Given the description of an element on the screen output the (x, y) to click on. 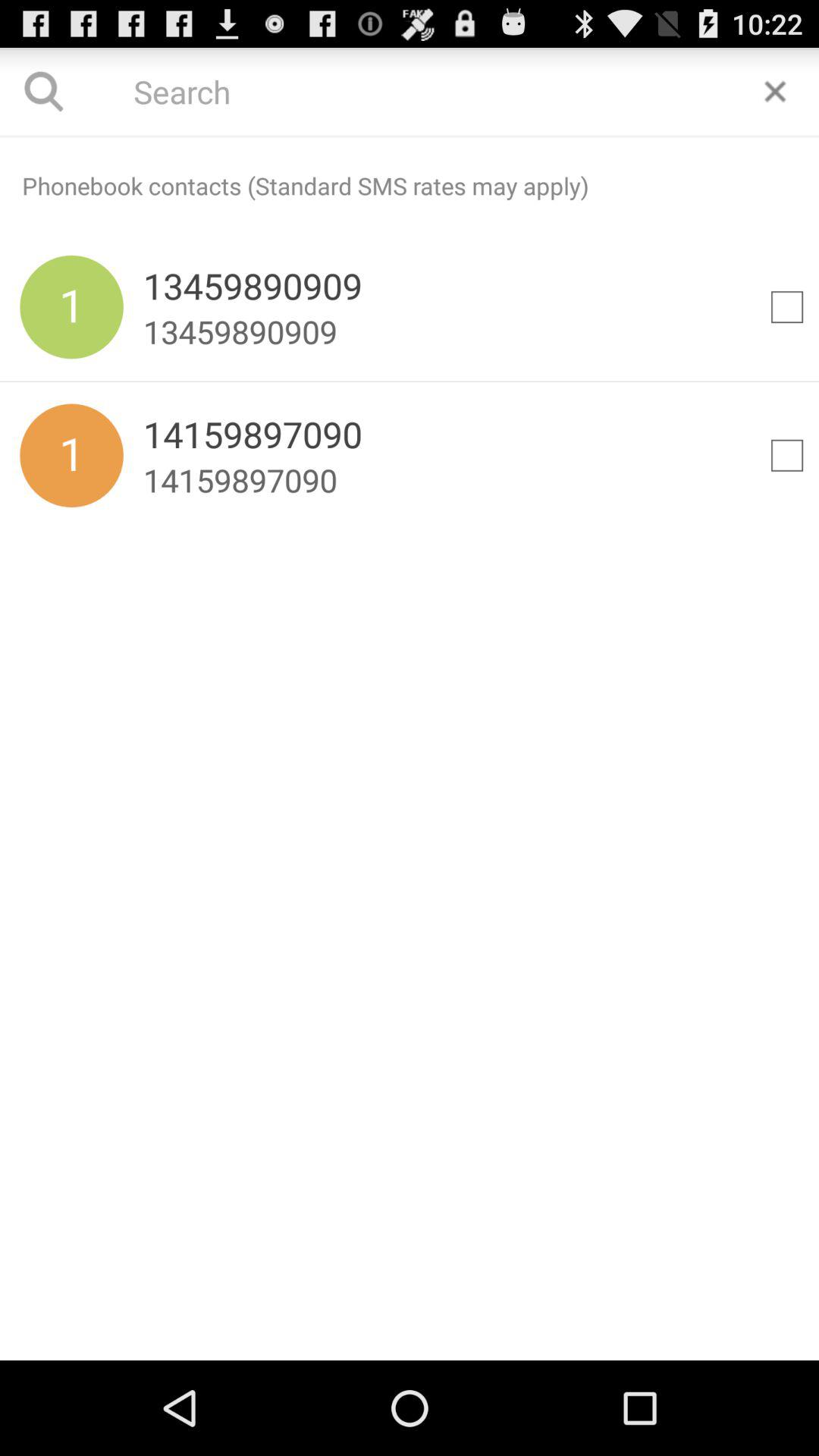
check box to select phone contact (787, 306)
